Given the description of an element on the screen output the (x, y) to click on. 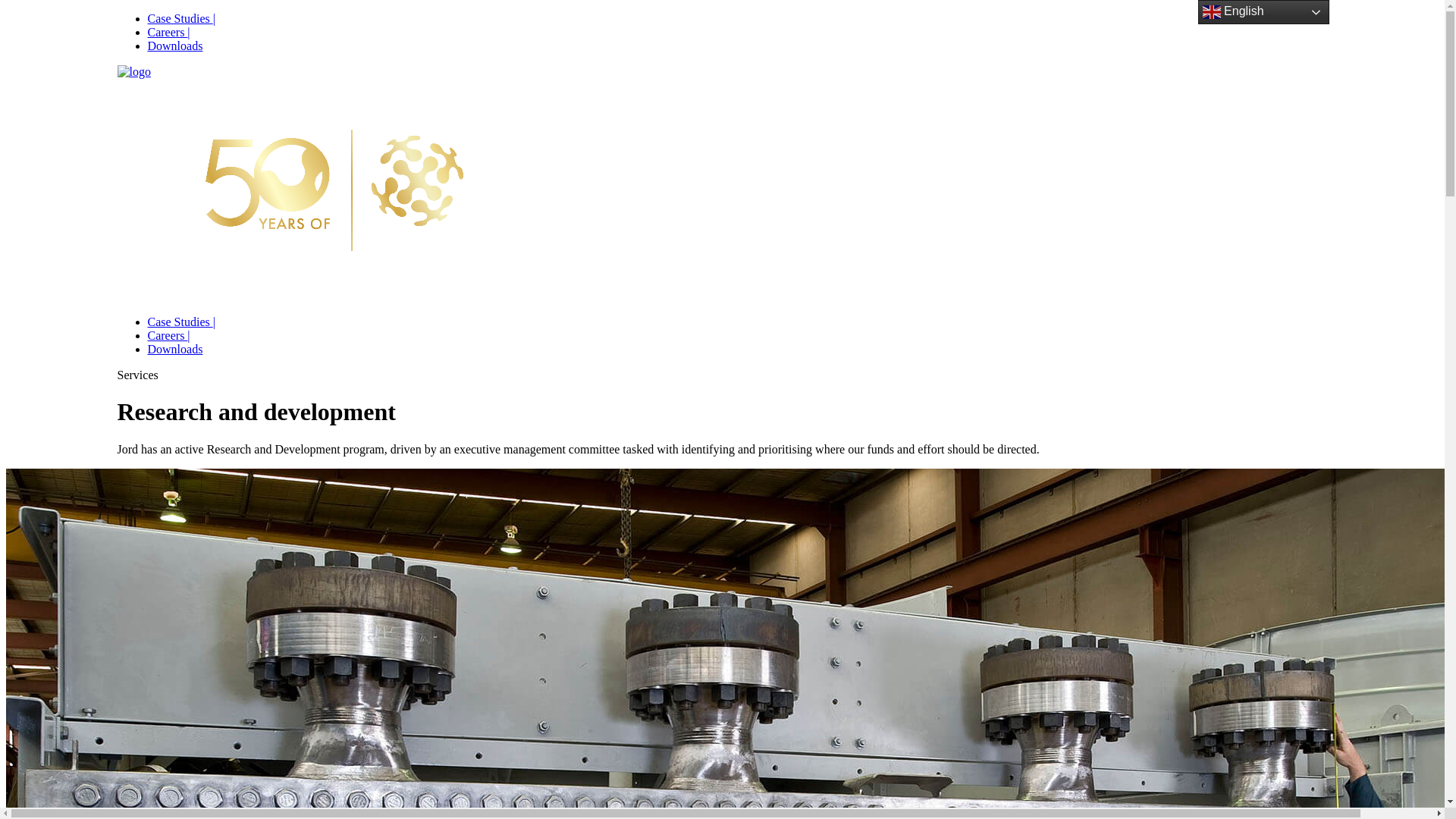
Industries Element type: text (531, 248)
Downloads Element type: text (980, 248)
Careers | Element type: text (168, 335)
Case Studies | Element type: text (180, 321)
Contact Us Element type: text (780, 248)
Case Studies Element type: text (854, 248)
Contact Us Element type: text (1292, 248)
News Element type: text (724, 248)
Home Element type: text (395, 248)
Downloads Element type: text (174, 45)
Expertise Element type: text (602, 248)
Services Element type: text (670, 248)
Case Studies | Element type: text (180, 18)
Careers | Element type: text (168, 31)
Downloads Element type: text (174, 348)
About Jord Element type: text (456, 248)
Careers Element type: text (919, 248)
English Element type: text (1263, 12)
